Given the description of an element on the screen output the (x, y) to click on. 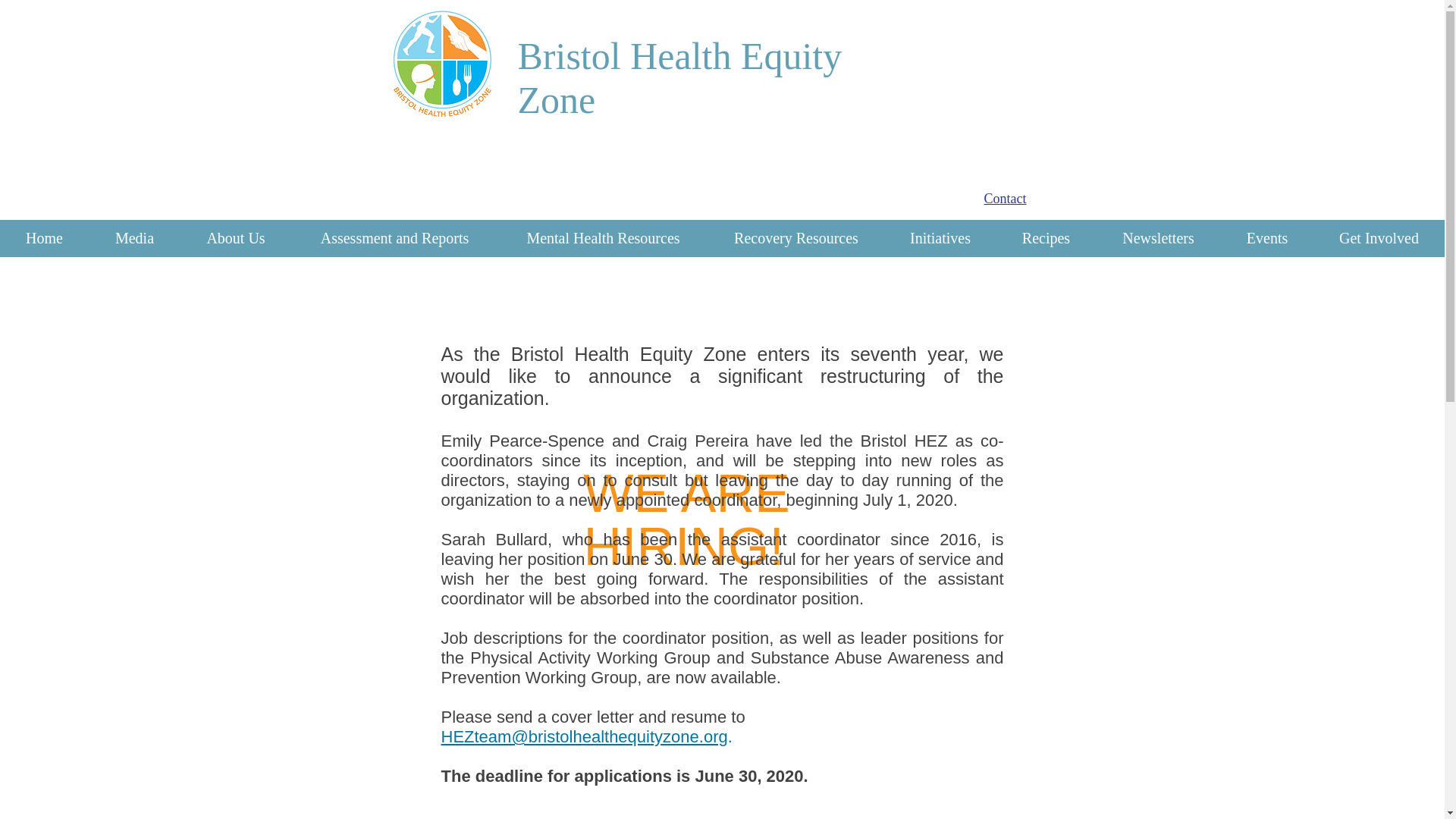
Recovery Resources (795, 238)
Assessment and Reports (394, 238)
Recipes (1045, 238)
Initiatives (939, 238)
Newsletters (1158, 238)
Mental Health Resources (602, 238)
Home (44, 238)
Contact (1005, 198)
Media (134, 238)
Events (1267, 238)
